Given the description of an element on the screen output the (x, y) to click on. 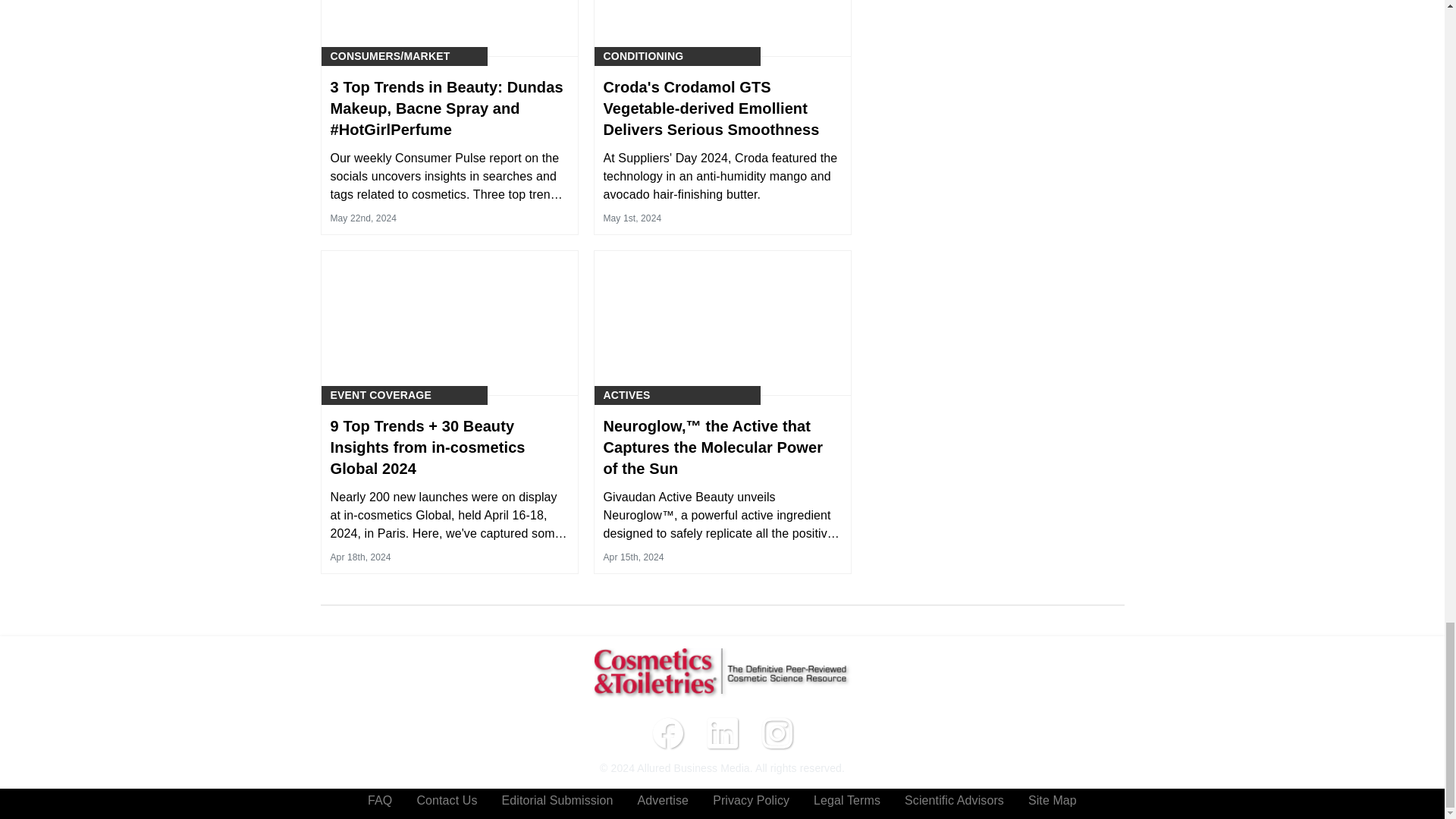
Instagram icon (776, 733)
LinkedIn icon (721, 733)
Facebook icon (667, 733)
